Given the description of an element on the screen output the (x, y) to click on. 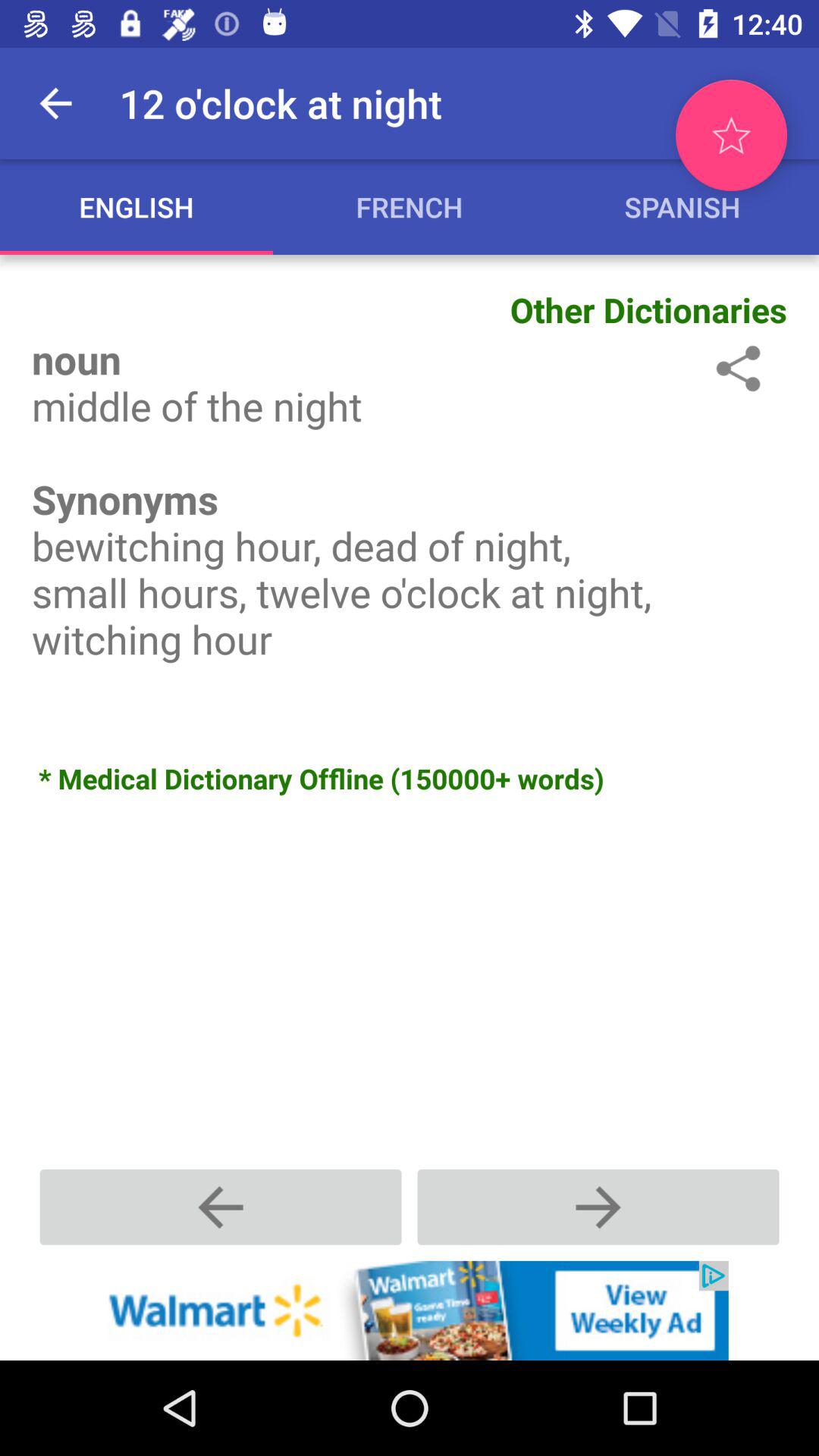
go to rating (731, 135)
